Given the description of an element on the screen output the (x, y) to click on. 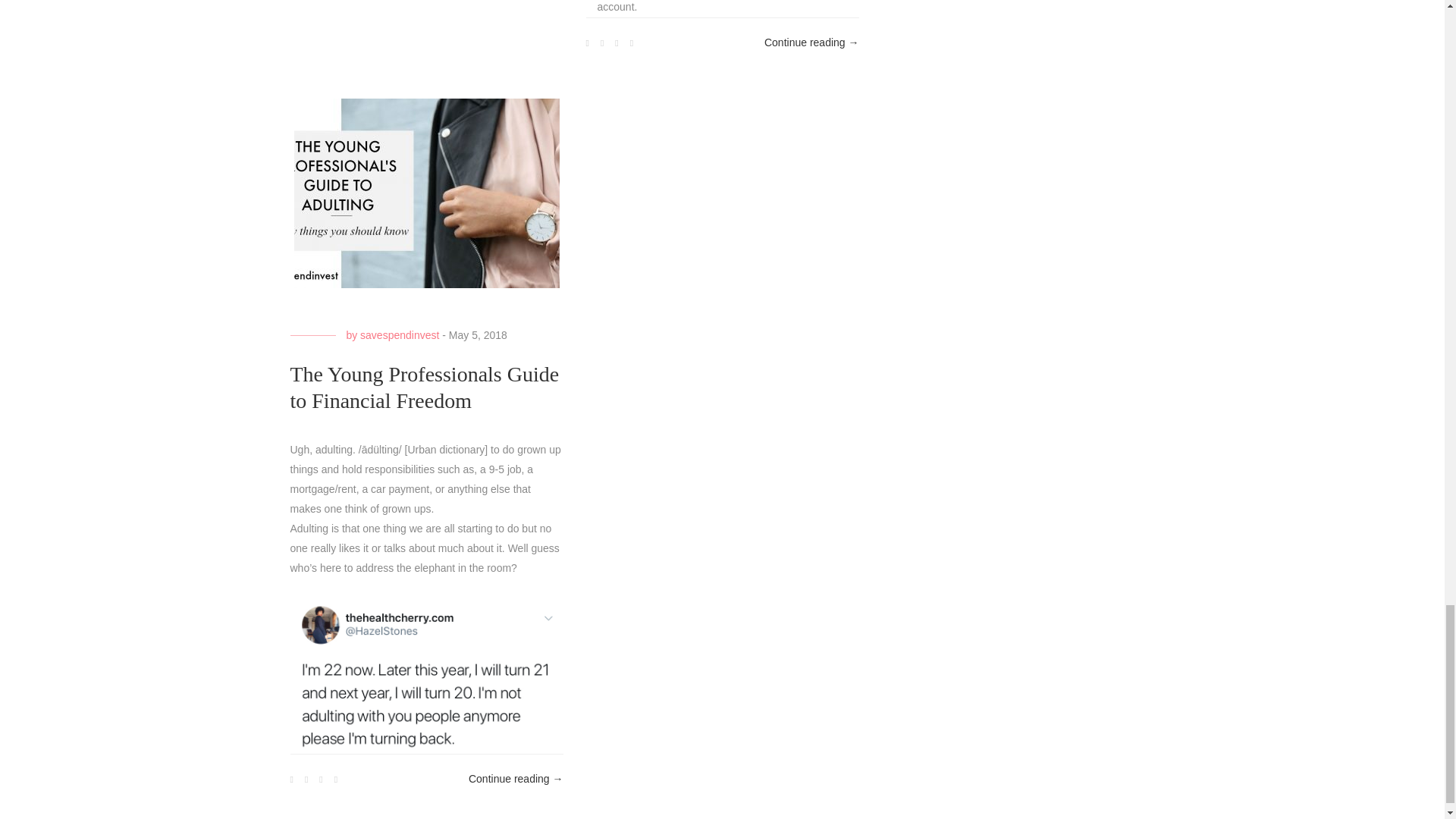
The Young Professionals Guide to Financial Freedom (424, 387)
savespendinvest (399, 335)
May 5, 2018 (477, 335)
